Given the description of an element on the screen output the (x, y) to click on. 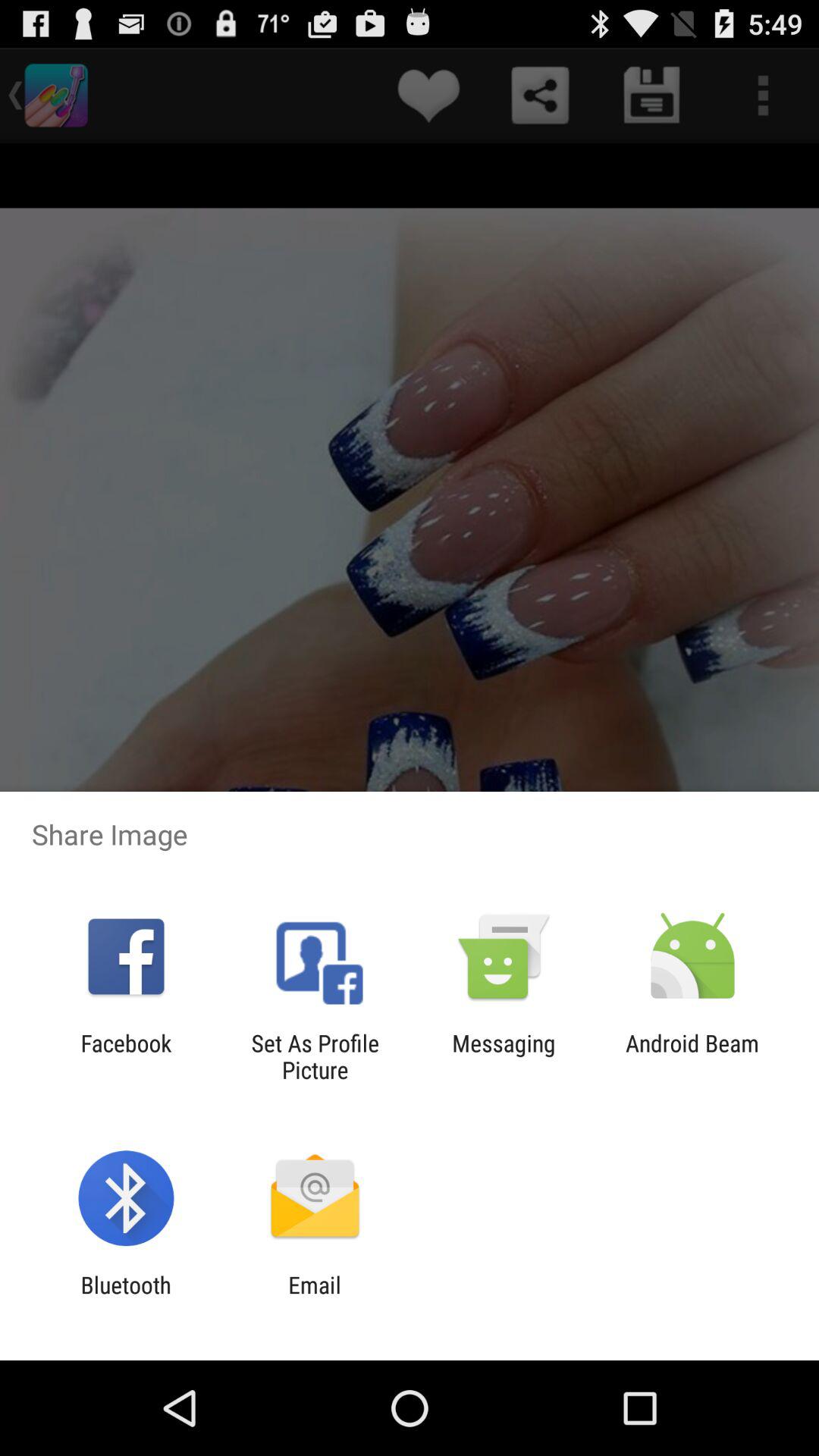
swipe to the email item (314, 1298)
